Given the description of an element on the screen output the (x, y) to click on. 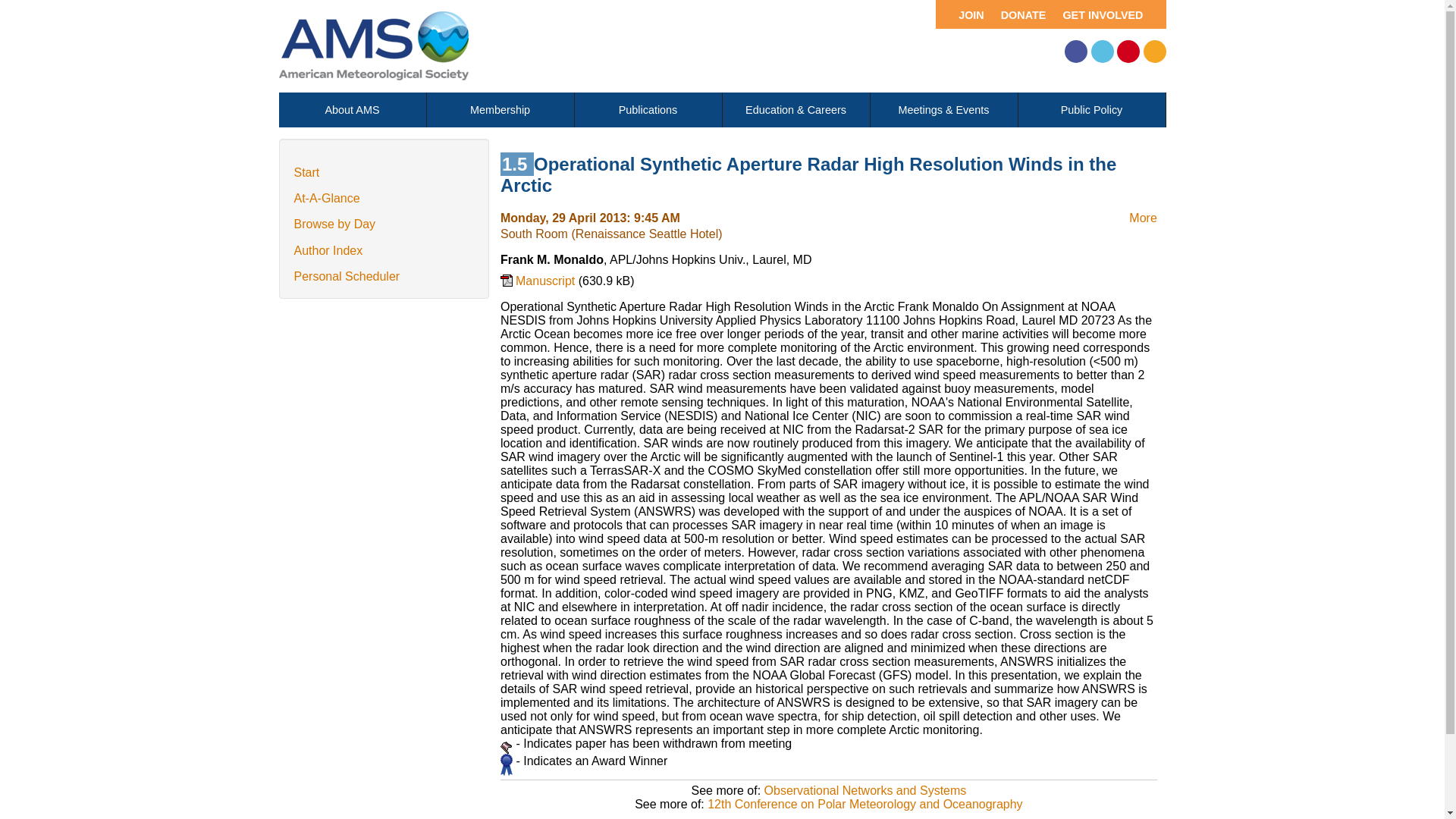
DONATE (1020, 14)
About AMS (352, 109)
Membership (499, 109)
Public Policy (1090, 109)
Browse by Day (334, 223)
Start (307, 172)
Author Index (328, 250)
12th Conference on Polar Meteorology and Oceanography (864, 803)
Observational Networks and Systems (865, 789)
RSS (1154, 51)
GET INVOLVED (1108, 14)
More (1142, 217)
Facebook (1075, 51)
Personal Scheduler (347, 276)
JOIN (963, 14)
